Given the description of an element on the screen output the (x, y) to click on. 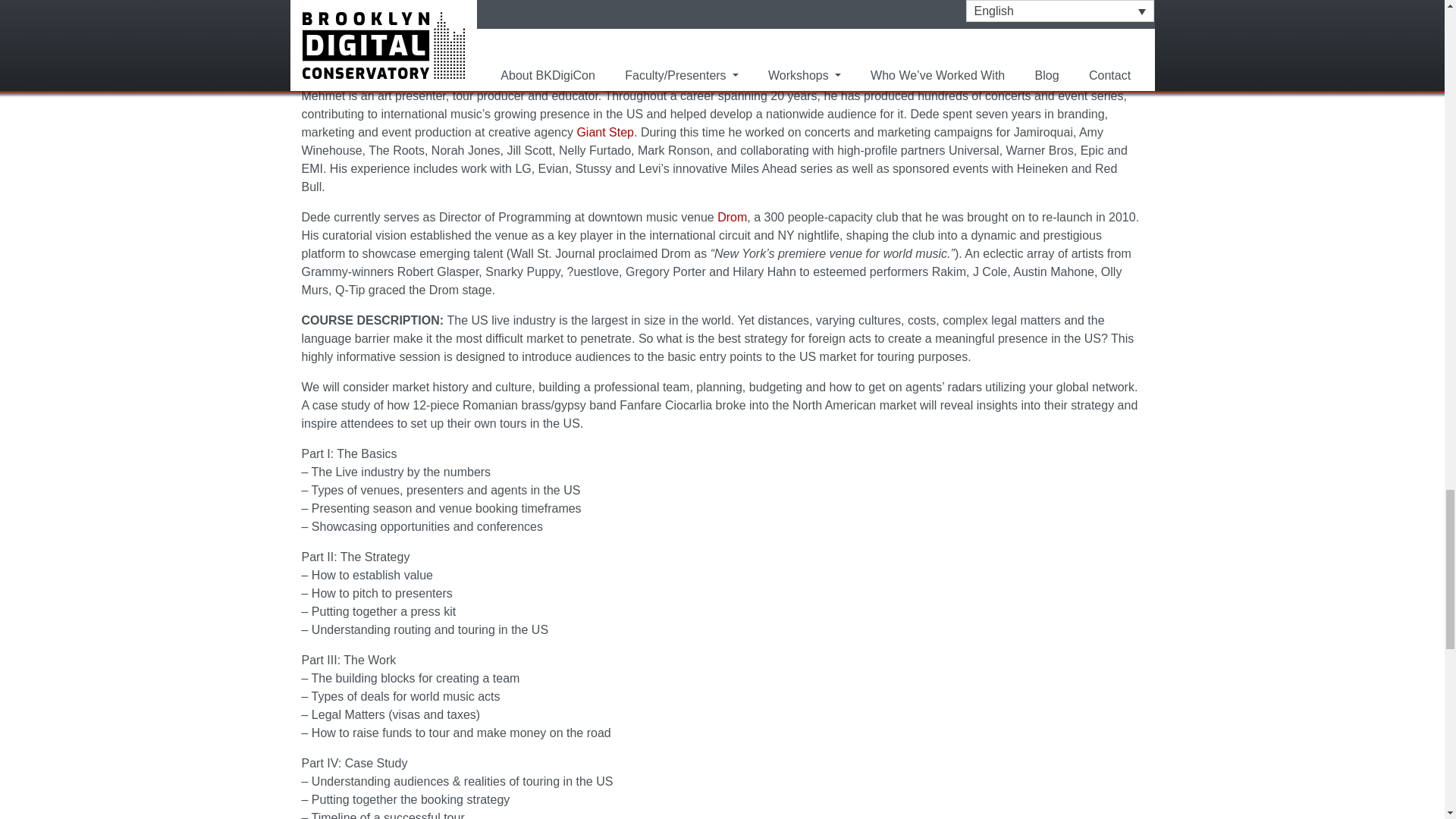
Mehmet Dede (575, 77)
Drom (731, 216)
Giant Step (604, 132)
